Given the description of an element on the screen output the (x, y) to click on. 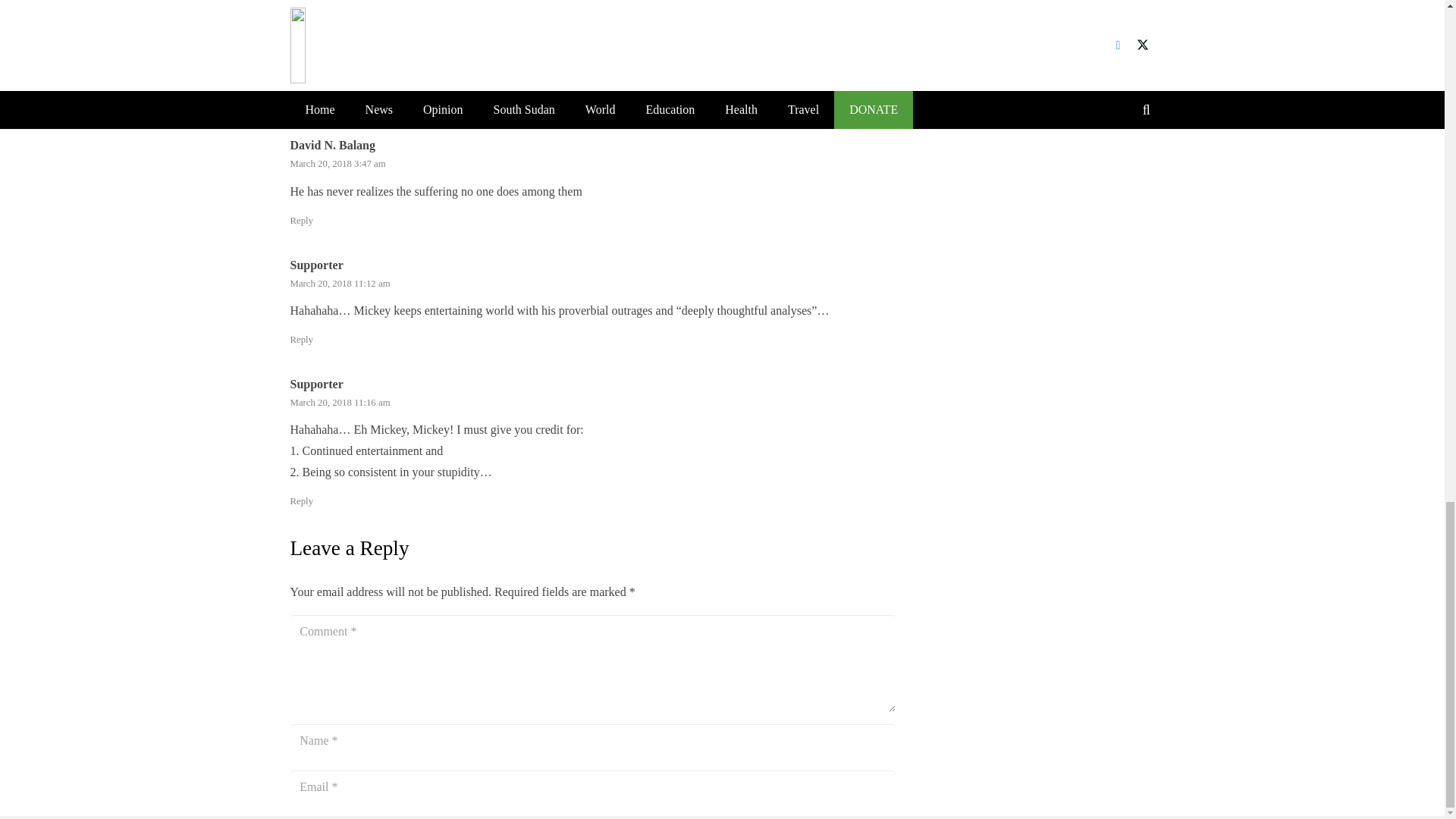
March 20, 2018 3:47 am (337, 163)
Reply (301, 501)
March 19, 2018 2:18 pm (337, 23)
March 20, 2018 11:12 am (339, 283)
Reply (301, 100)
March 19, 2018 2:18 pm (337, 23)
March 20, 2018 11:16 am (339, 402)
March 20, 2018 3:47 am (337, 163)
Reply (301, 339)
March 20, 2018 11:12 am (339, 283)
